Given the description of an element on the screen output the (x, y) to click on. 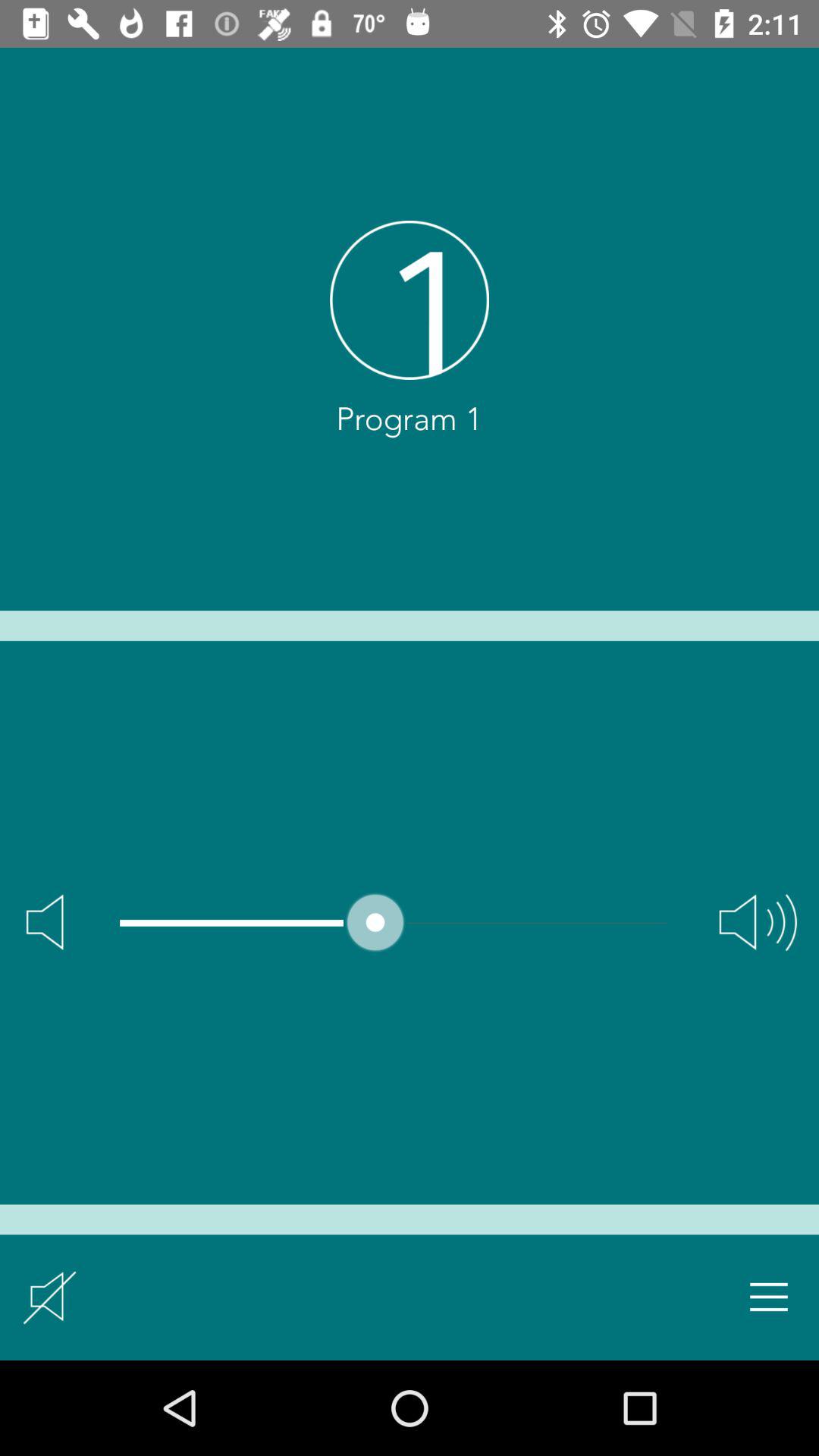
increase volume (758, 922)
